Given the description of an element on the screen output the (x, y) to click on. 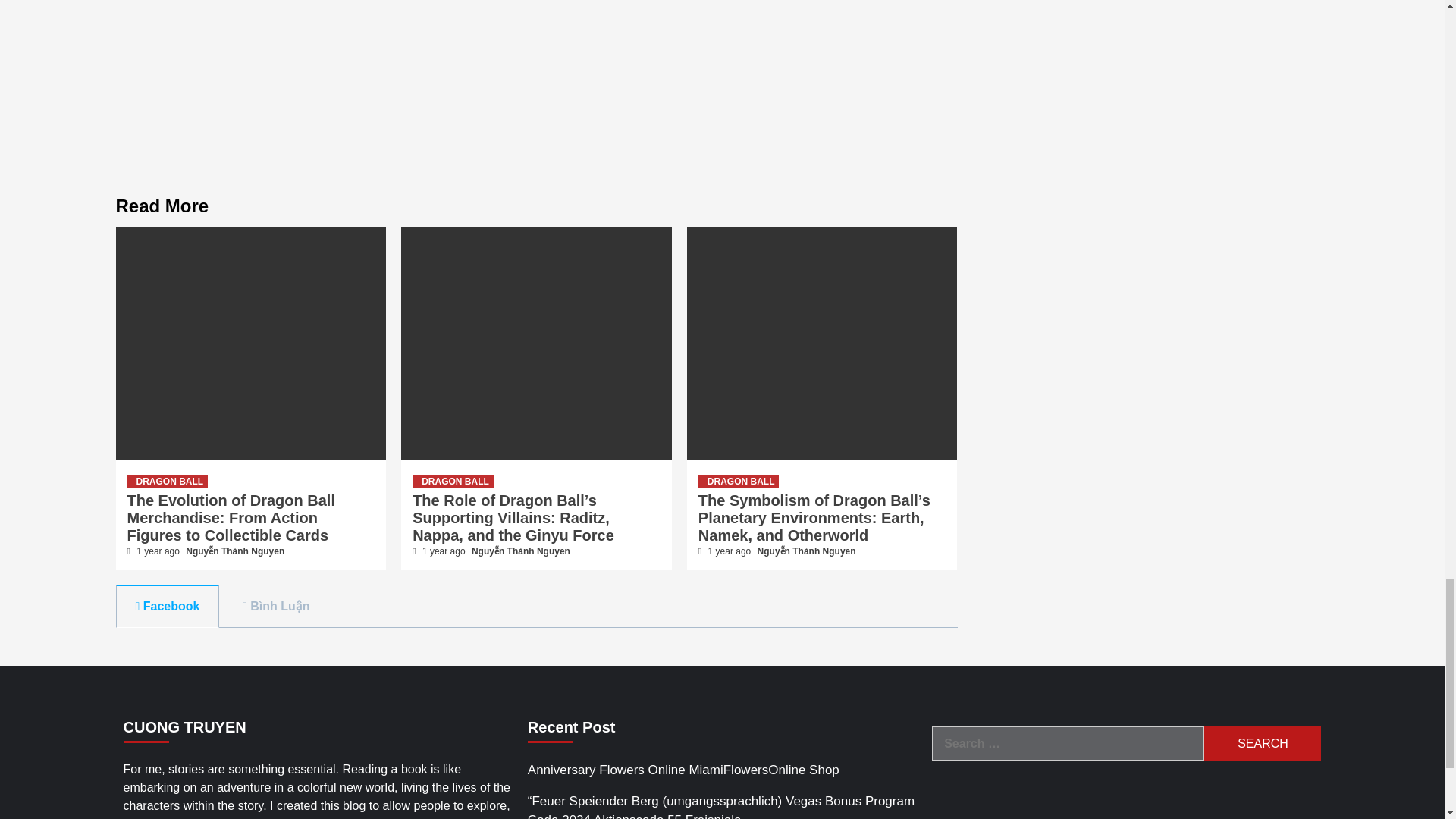
DRAGON BALL (168, 481)
Search (1262, 743)
DRAGON BALL (452, 481)
Search (1262, 743)
